Given the description of an element on the screen output the (x, y) to click on. 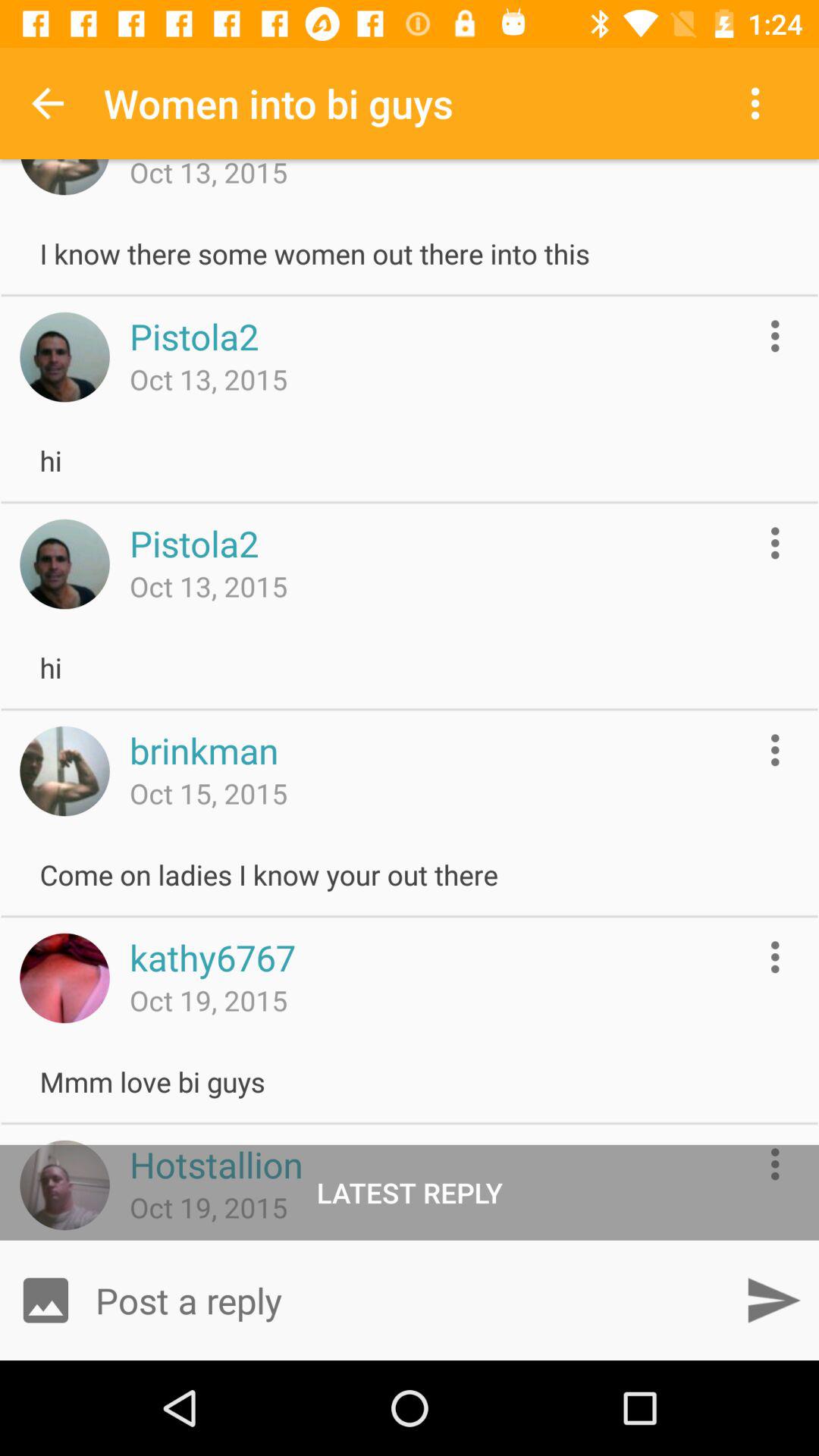
show profile (64, 357)
